Given the description of an element on the screen output the (x, y) to click on. 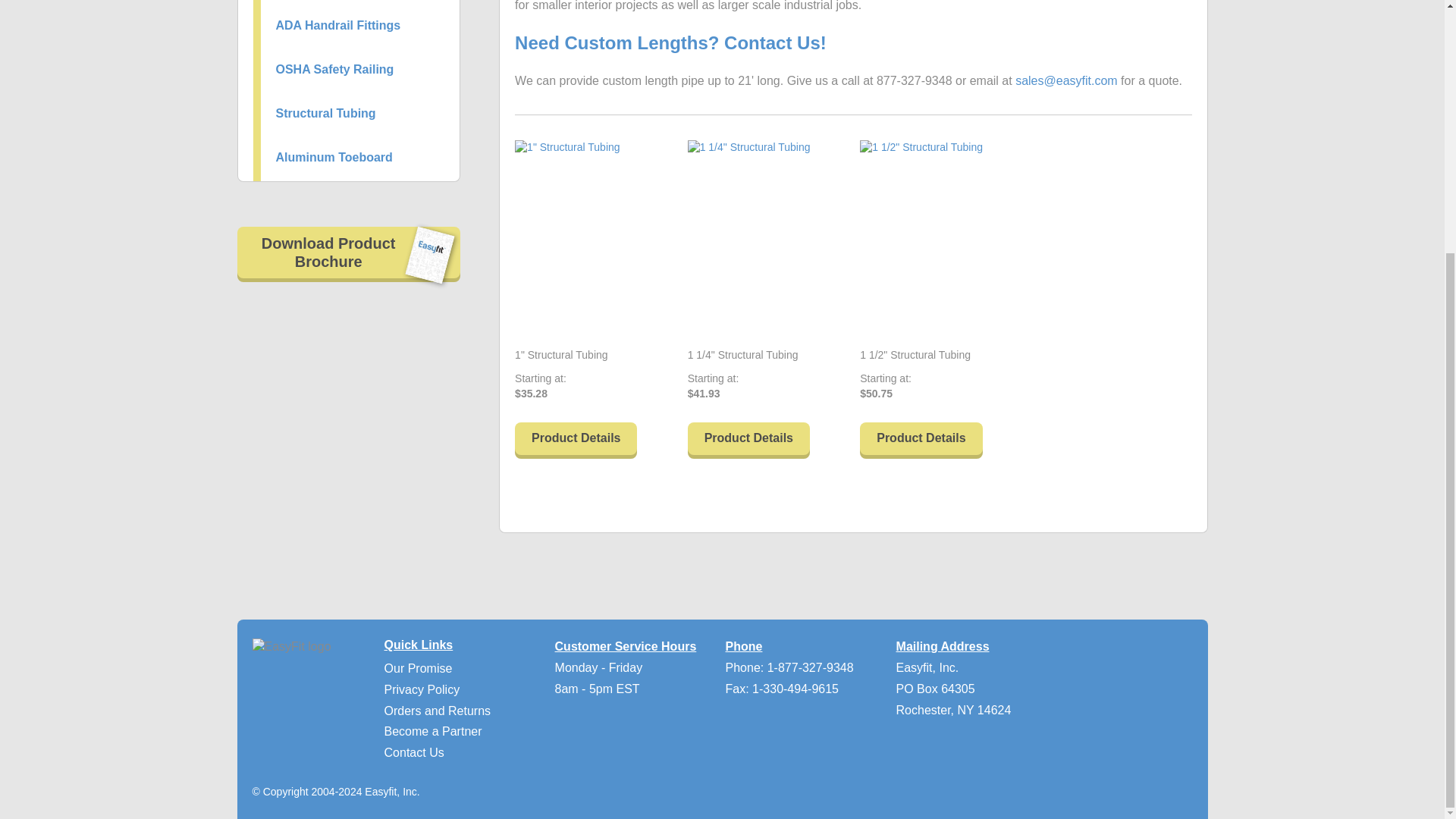
Become a Partner (432, 730)
Privacy Policy (422, 689)
Need Custom Lengths? Contact Us! (671, 42)
Contact Us (414, 752)
Orders and Returns (438, 710)
Product Details (576, 440)
1" Structural Tubing (561, 354)
ADA Handrail Fittings (338, 24)
Product Details (748, 440)
Product Details (920, 440)
